Given the description of an element on the screen output the (x, y) to click on. 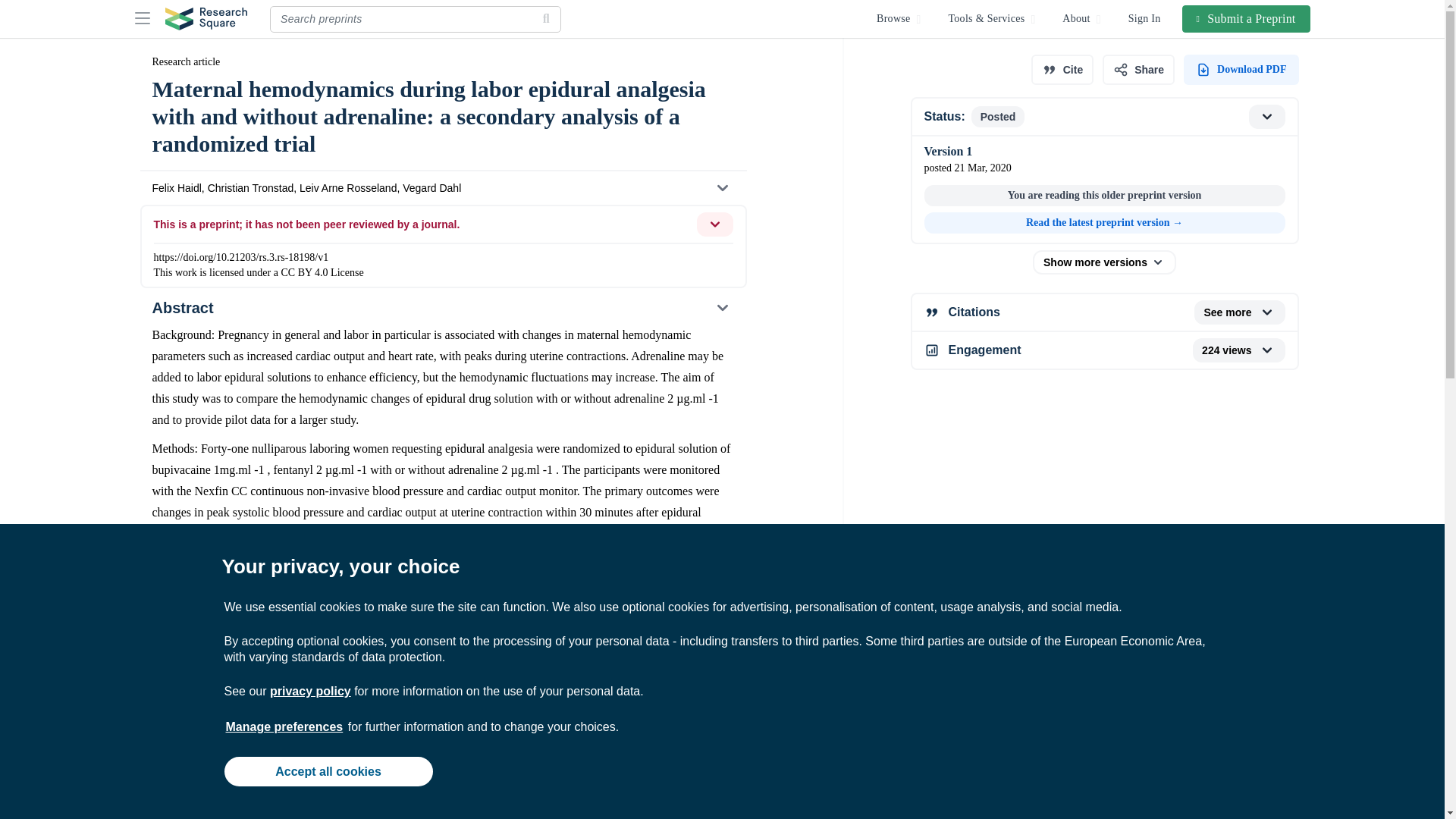
Manage preferences (284, 726)
Background (442, 758)
Sign In (1144, 18)
Figures (442, 723)
privacy policy (309, 690)
Accept all cookies (328, 771)
Methods (442, 792)
Results (442, 815)
